Given the description of an element on the screen output the (x, y) to click on. 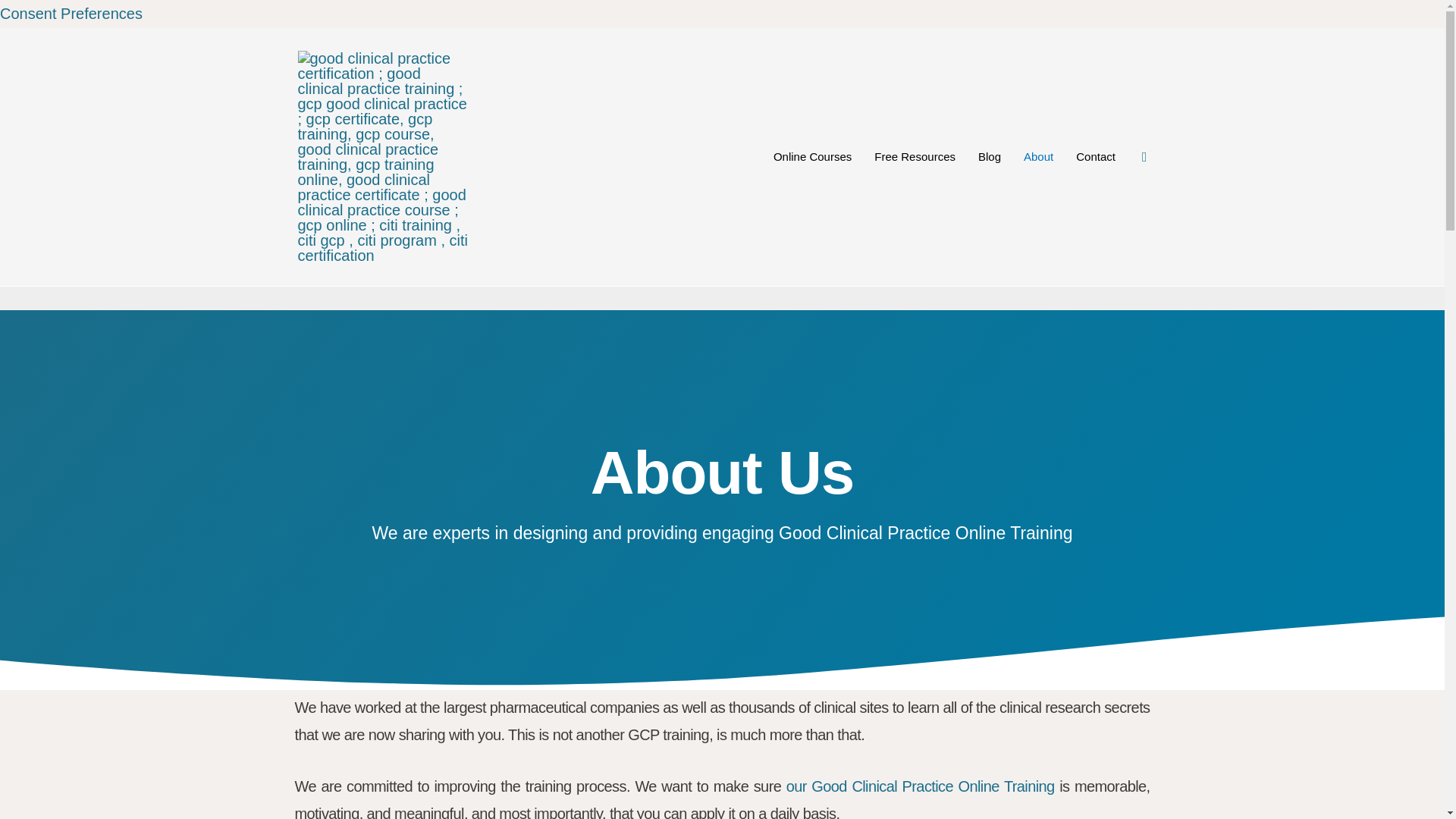
Contact (1095, 156)
Online Courses (812, 156)
our Good Clinical Practice Online Training (920, 786)
Free Resources (914, 156)
Consent Preferences (71, 13)
About (1037, 156)
